Given the description of an element on the screen output the (x, y) to click on. 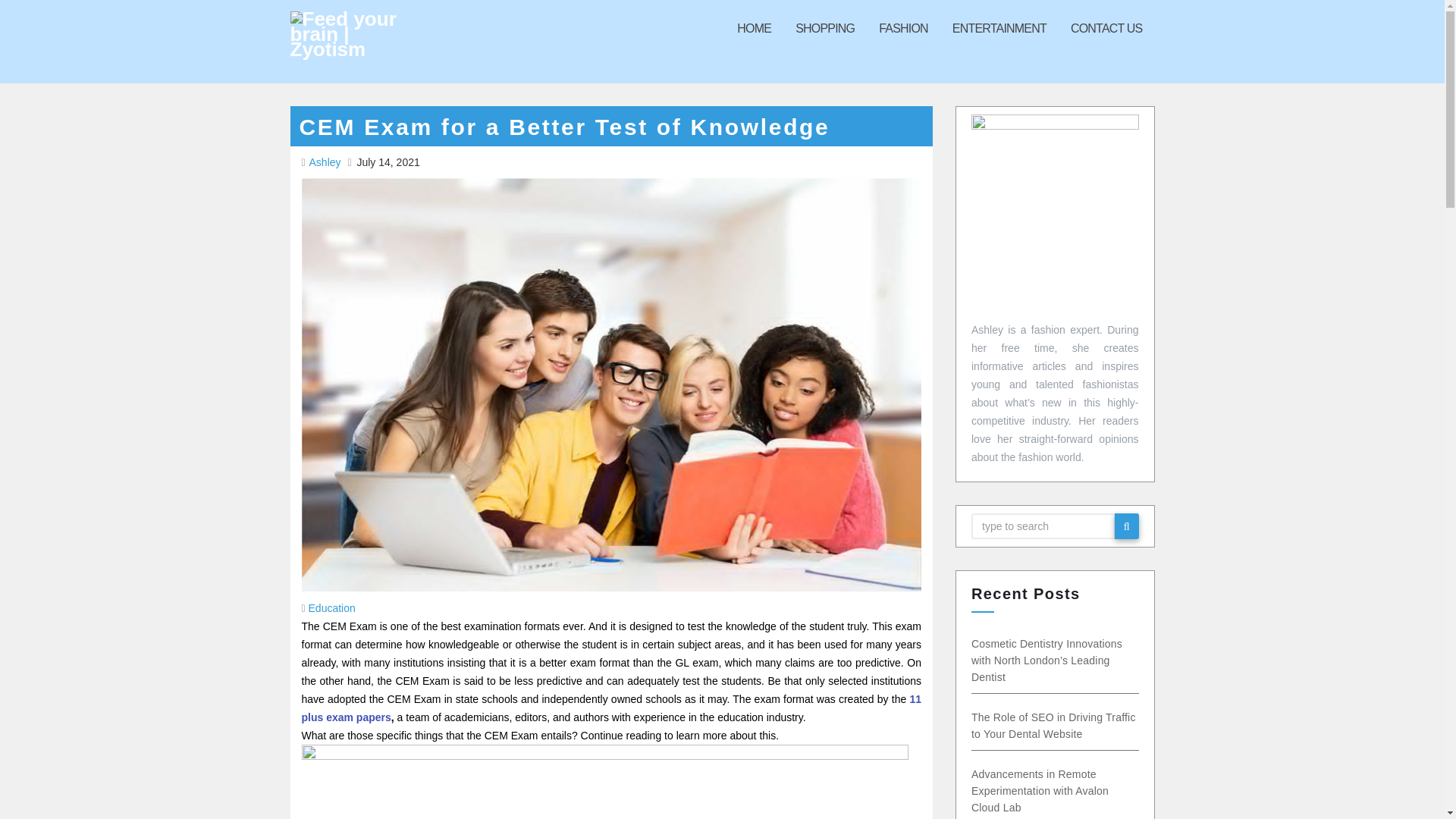
11 plus exam papers (611, 707)
Ashley (326, 162)
Entertainment (999, 28)
ENTERTAINMENT (999, 28)
Fashion (903, 28)
Home (754, 28)
Shopping (824, 28)
Advancements in Remote Experimentation with Avalon Cloud Lab (1029, 791)
The Role of SEO in Driving Traffic to Your Dental Website (1050, 725)
Education (331, 607)
